Given the description of an element on the screen output the (x, y) to click on. 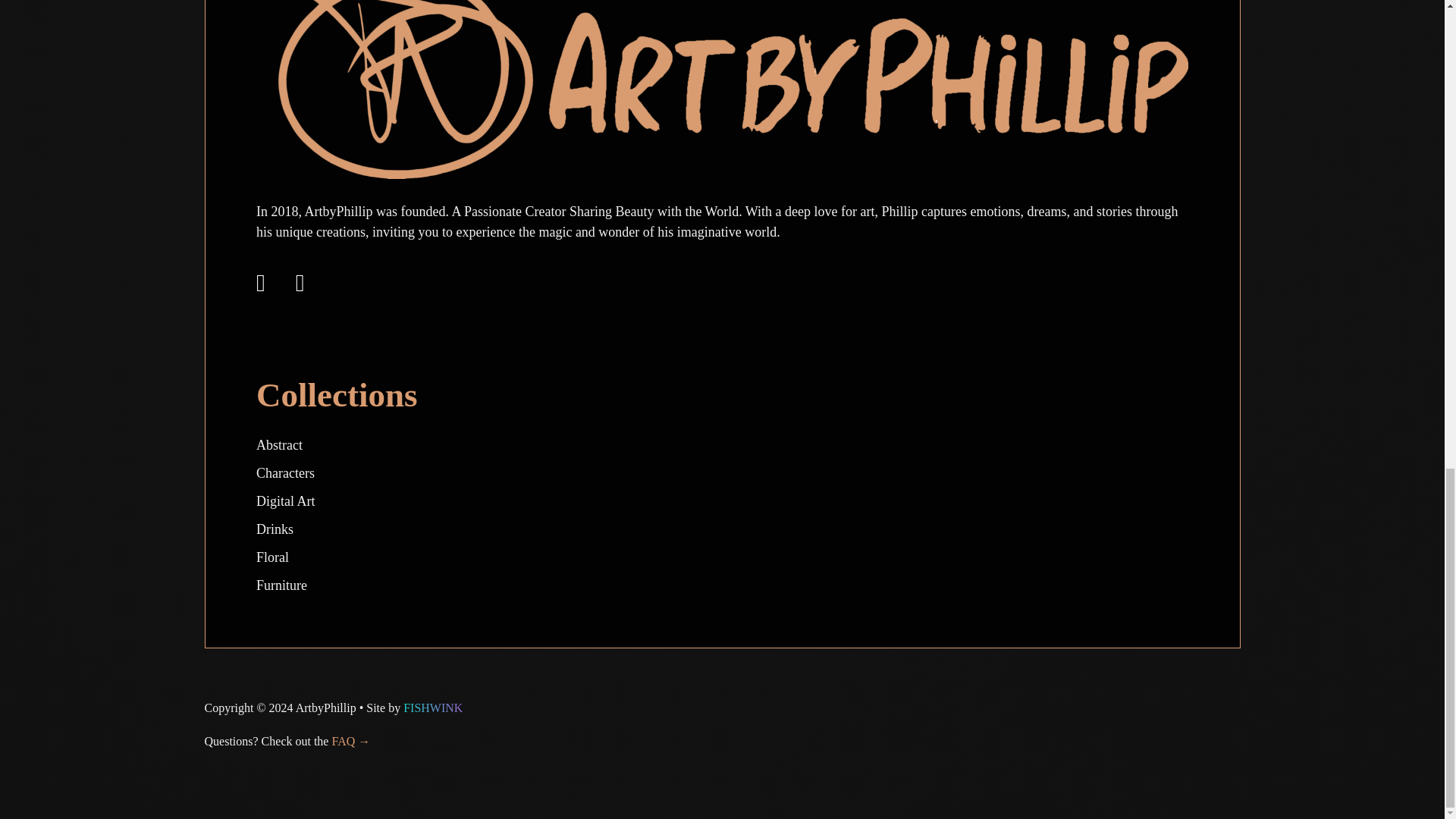
Characters (285, 473)
Drinks (275, 529)
Abstract (279, 444)
Floral (272, 557)
Furniture (281, 585)
Drinks (275, 529)
Digital Art (285, 500)
home (722, 70)
Furniture (281, 585)
Abstract (279, 444)
